Given the description of an element on the screen output the (x, y) to click on. 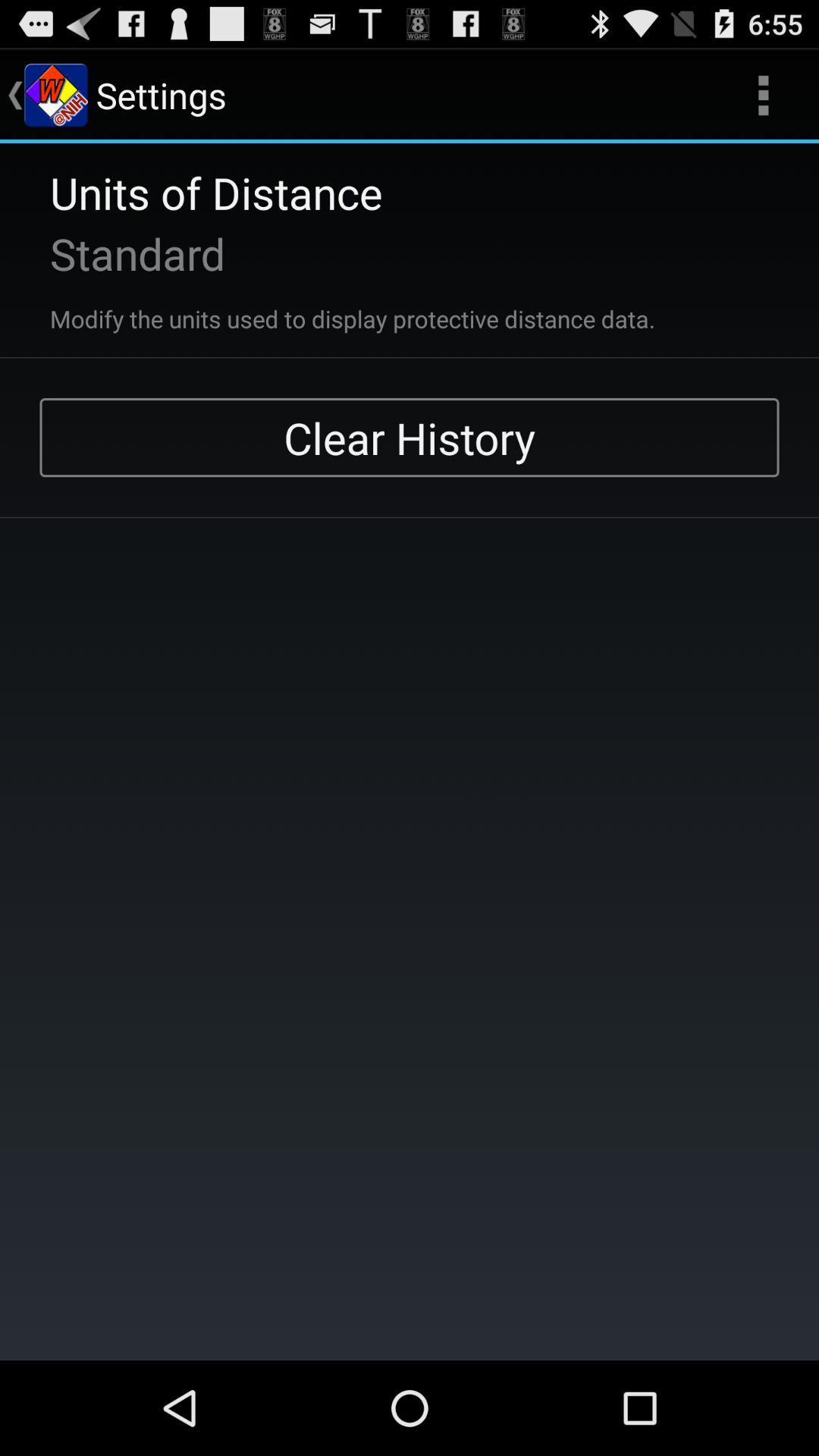
launch the item below the standard app (332, 309)
